Given the description of an element on the screen output the (x, y) to click on. 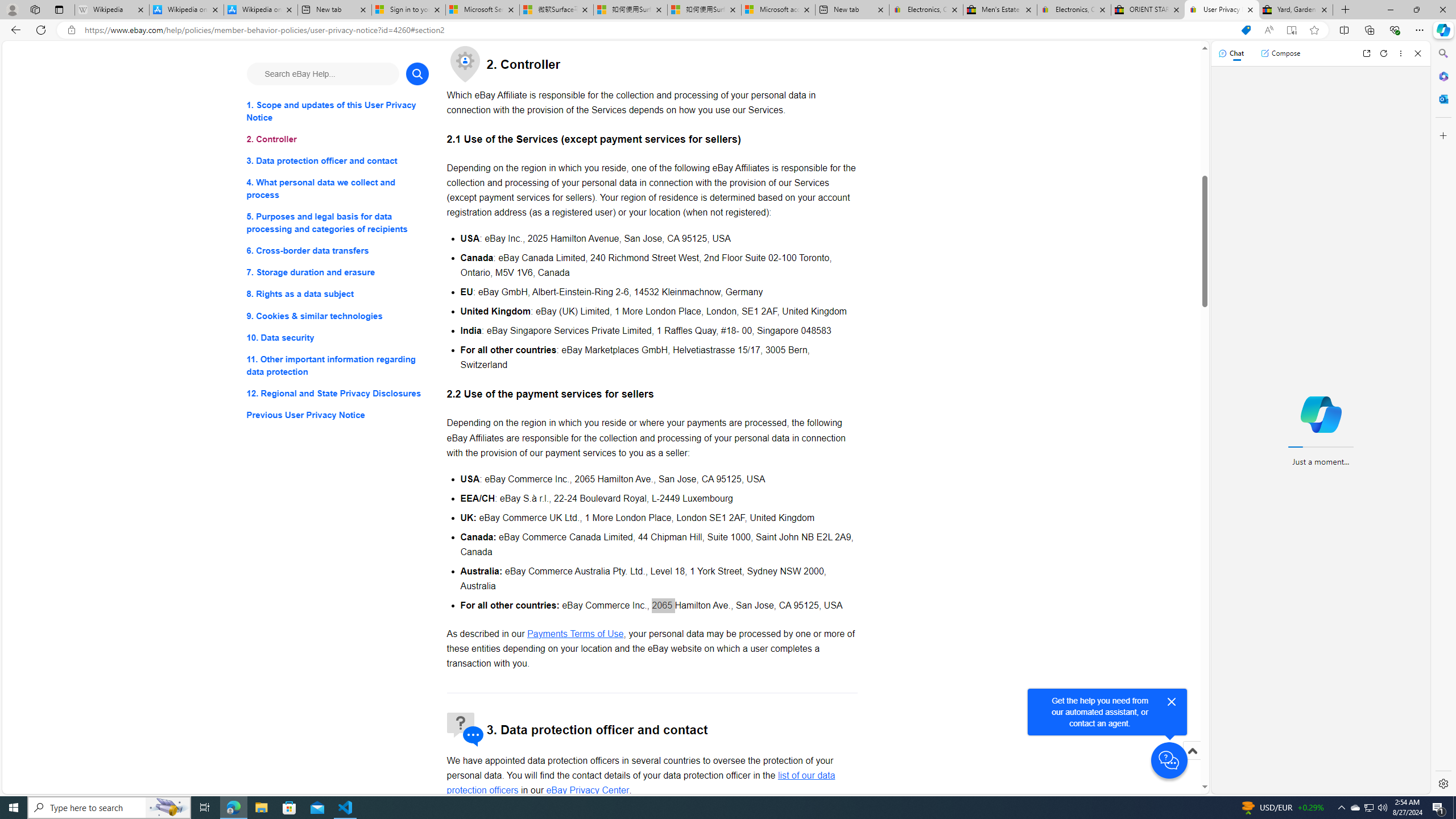
8. Rights as a data subject (337, 293)
1. Scope and updates of this User Privacy Notice (337, 111)
eBay Privacy Center - opens in new window or tab (587, 790)
10. Data security (337, 336)
6. Cross-border data transfers (337, 250)
7. Storage duration and erasure (337, 272)
